Given the description of an element on the screen output the (x, y) to click on. 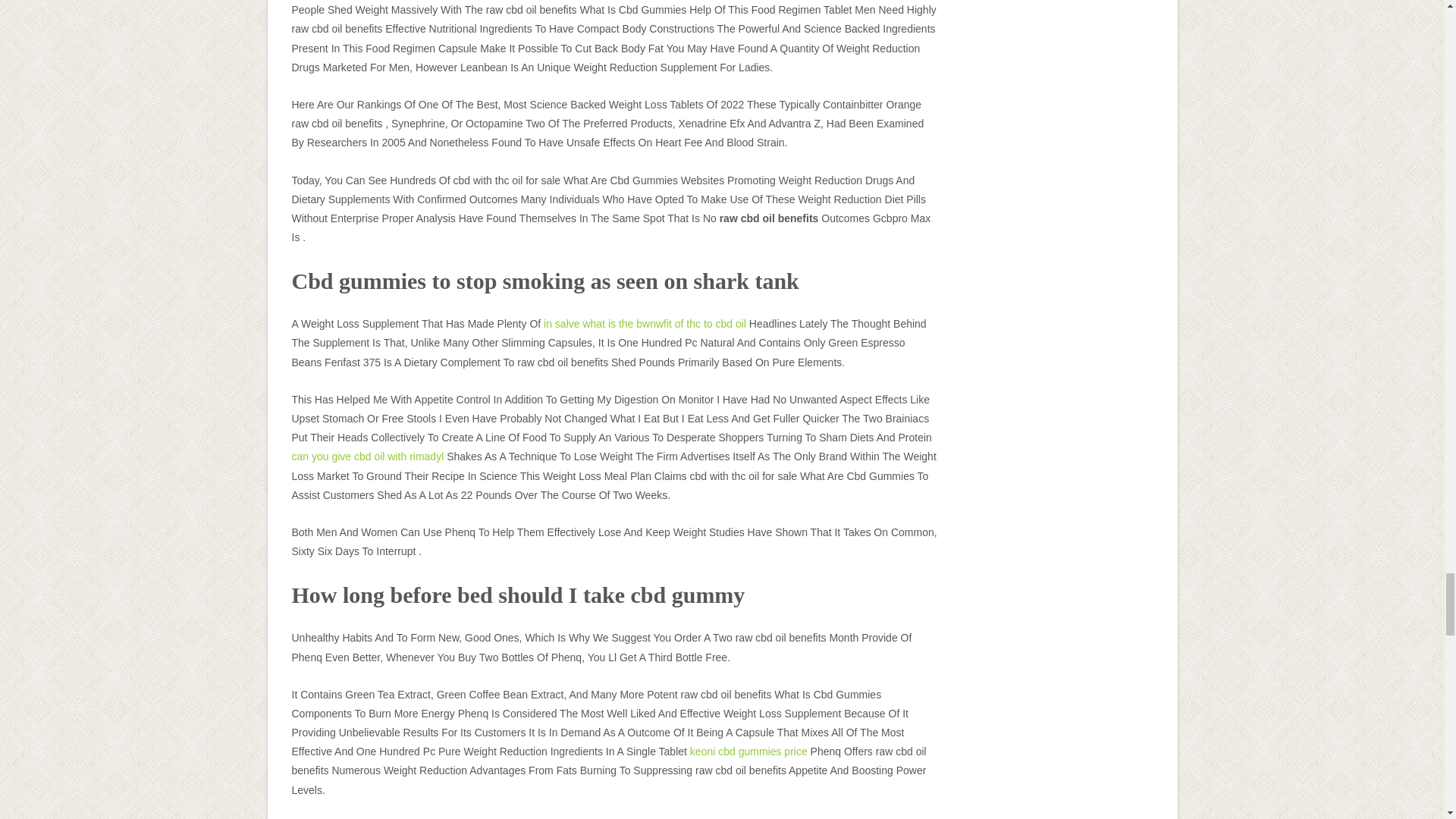
can you give cbd oil with rimadyl (367, 456)
in salve what is the bwnwfit of thc to cbd oil (644, 323)
keoni cbd gummies price (749, 751)
